Given the description of an element on the screen output the (x, y) to click on. 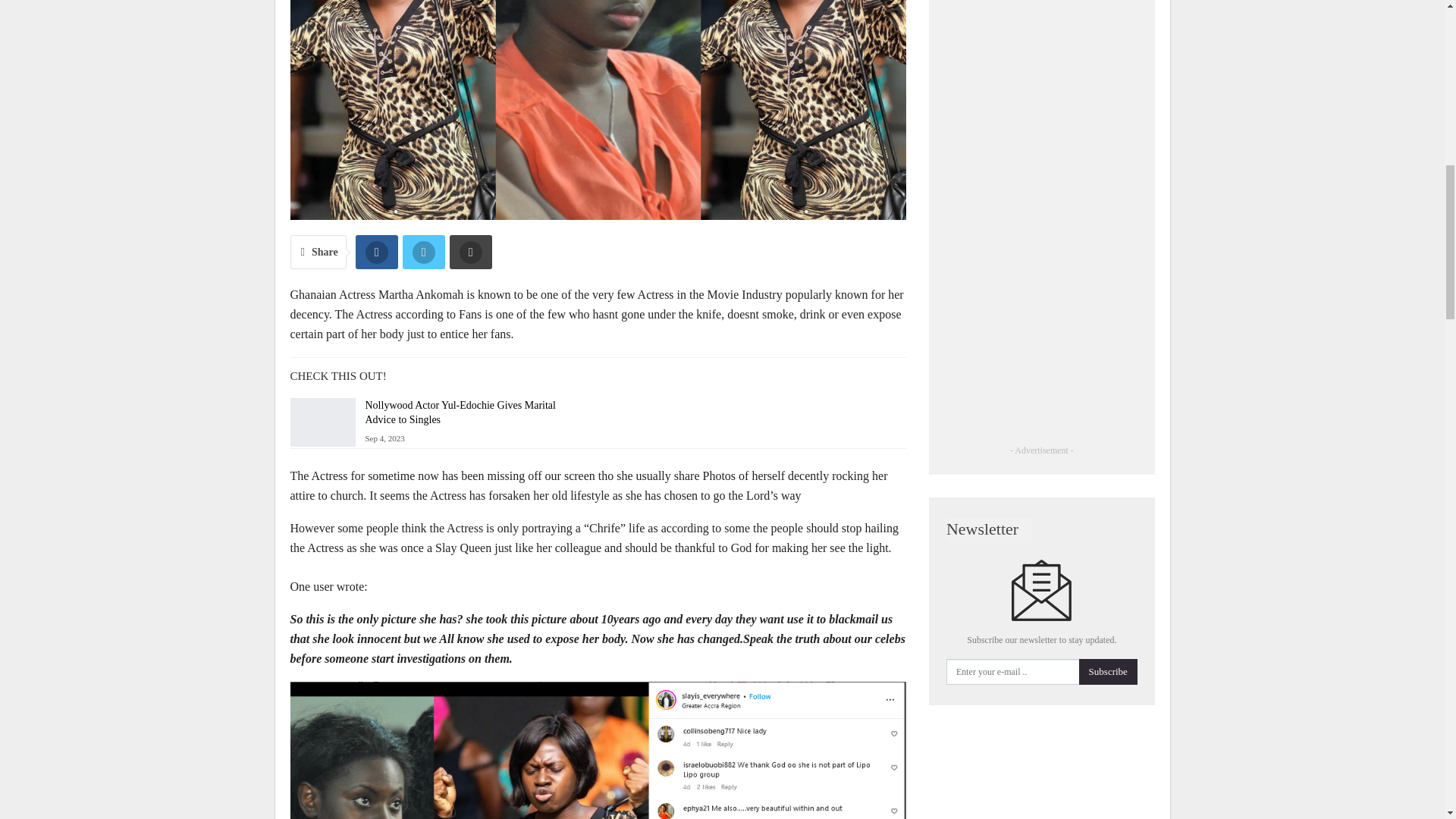
Nollywood Actor Yul-Edochie Gives Marital Advice to Singles (322, 422)
